Given the description of an element on the screen output the (x, y) to click on. 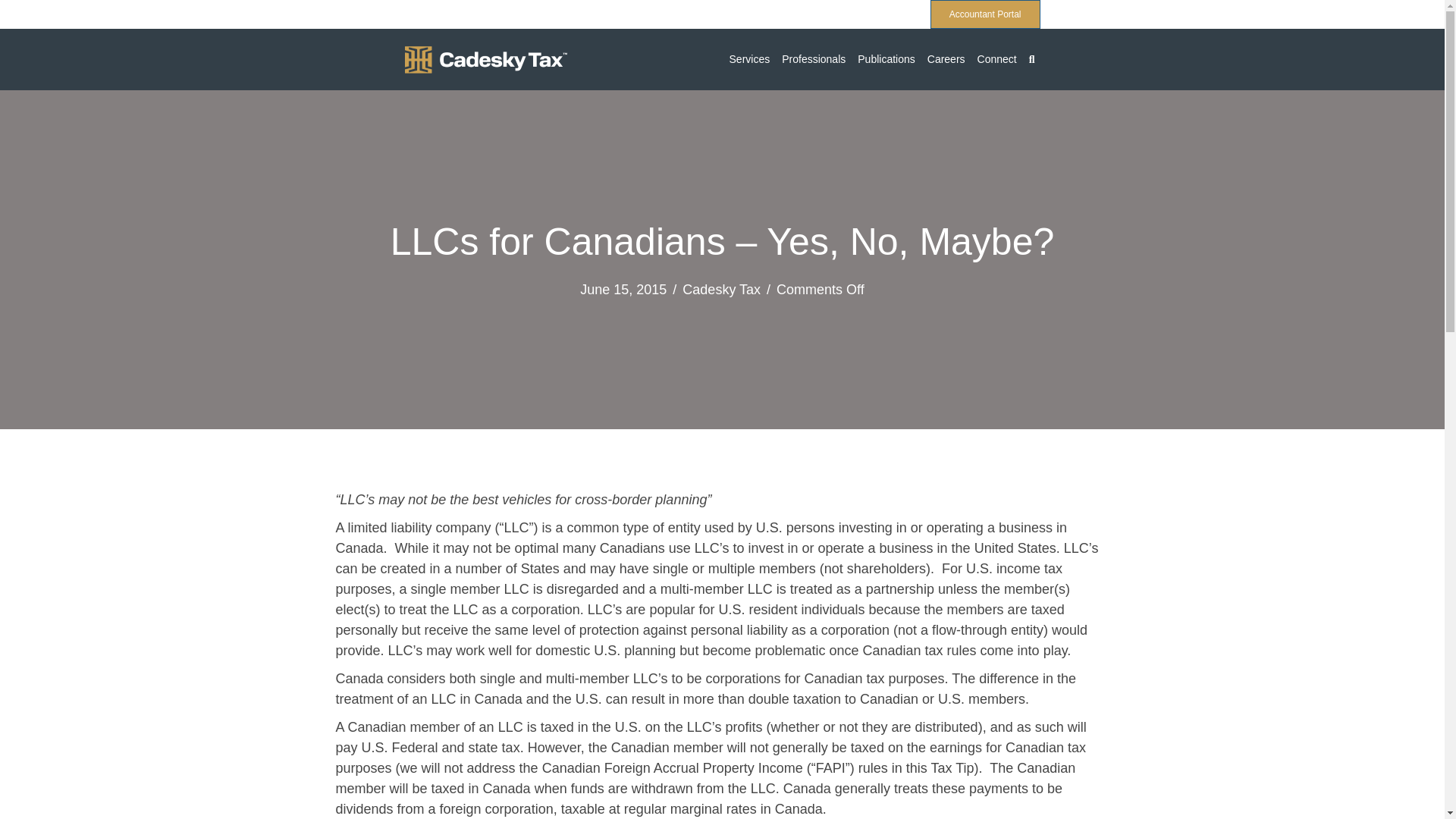
Careers (946, 59)
Connect (997, 59)
Publications (885, 59)
Cadesky Tax (721, 289)
Professionals (813, 59)
Accountant Portal (985, 14)
Services (749, 59)
